Given the description of an element on the screen output the (x, y) to click on. 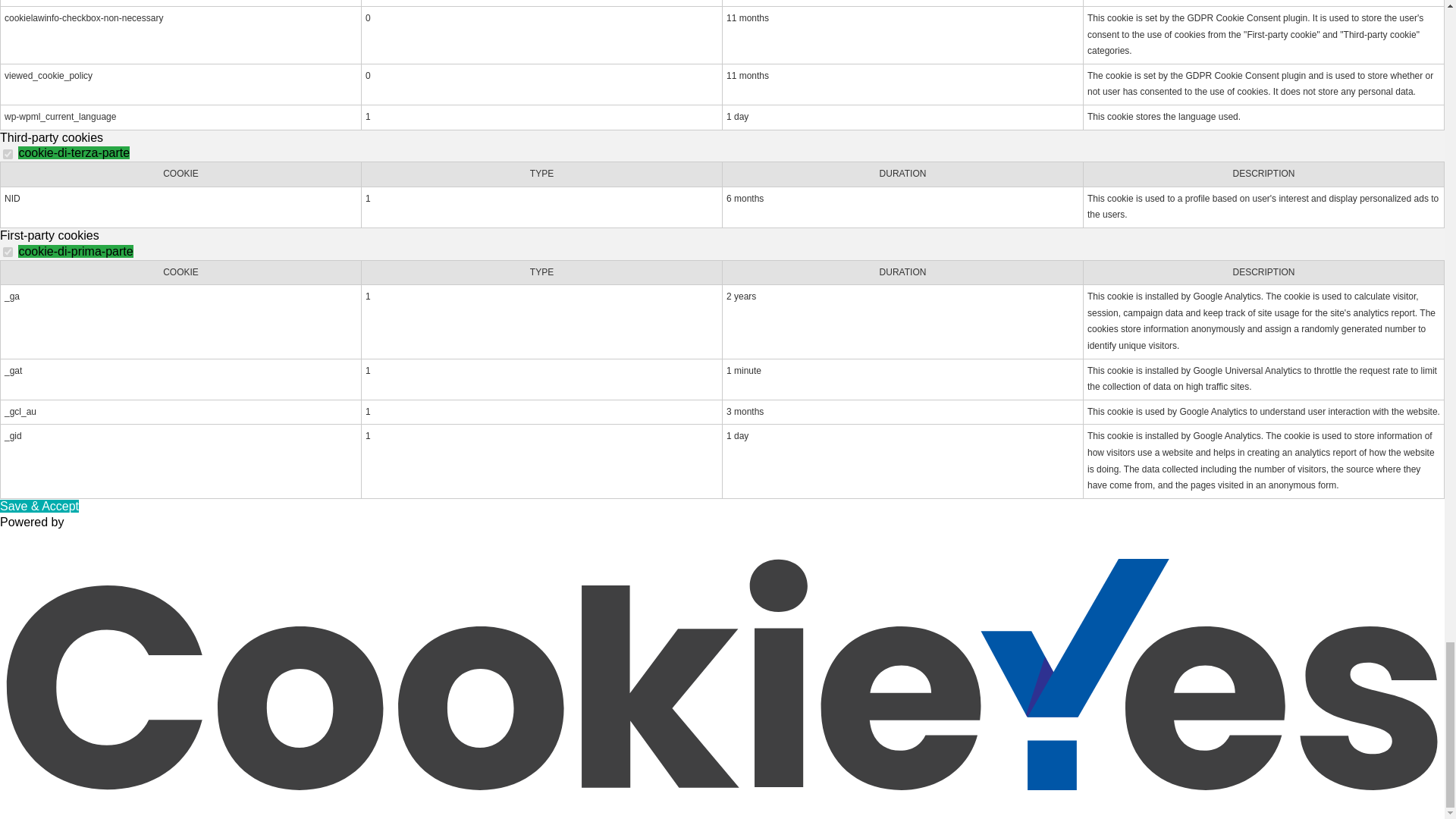
on (7, 252)
on (7, 153)
